Given the description of an element on the screen output the (x, y) to click on. 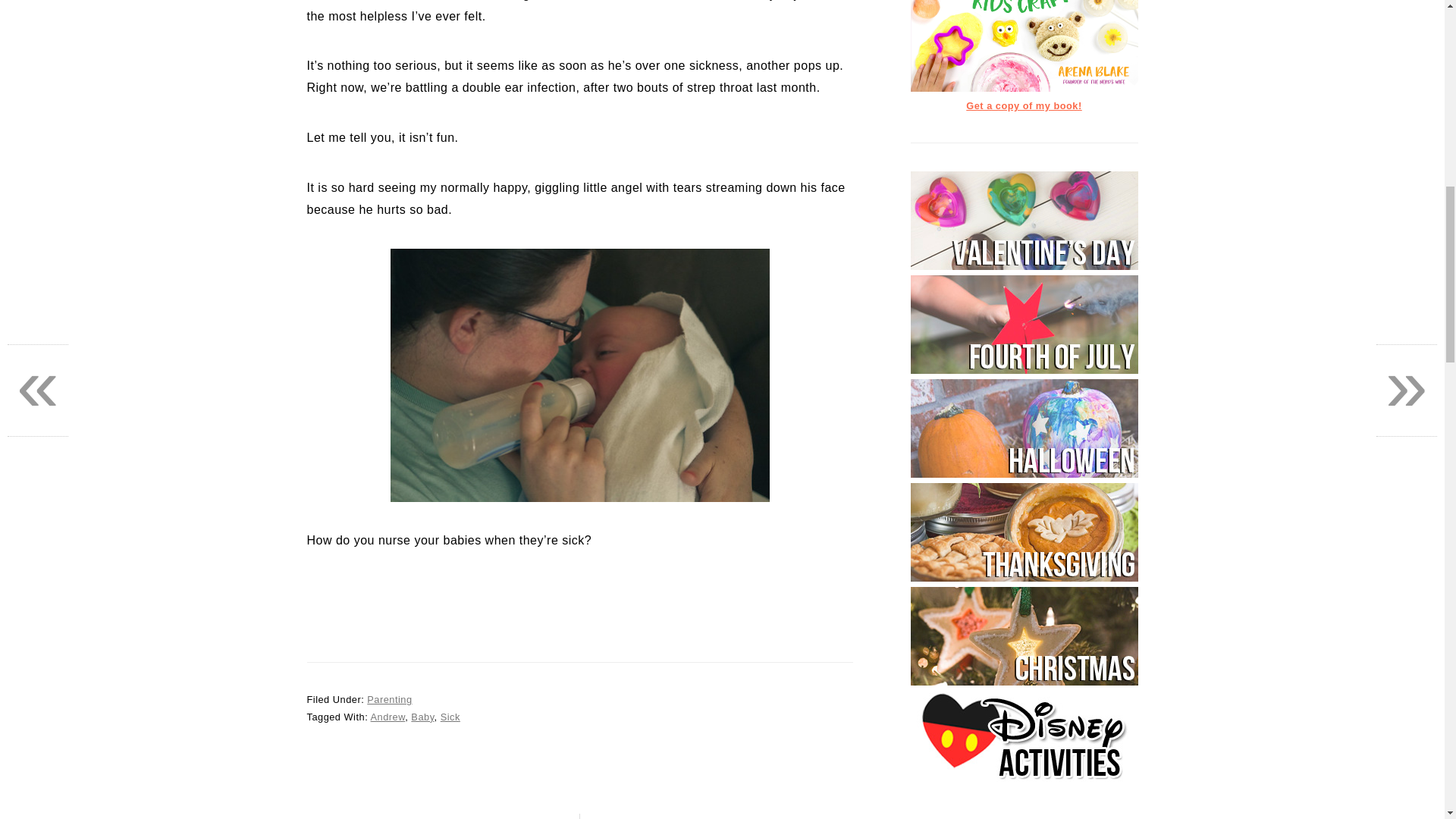
Halloween Ideas (1023, 473)
July 4th Ideas (1023, 369)
Parenting (389, 699)
Andrew (388, 716)
Disney Themed Activities (1023, 785)
Thanksgiving Ideas (1023, 577)
Christmas Ideas (1023, 681)
Baby (421, 716)
Sick (450, 716)
Edible Kids Crafts (1023, 88)
Valentine's Day Ideas (1023, 266)
